Given the description of an element on the screen output the (x, y) to click on. 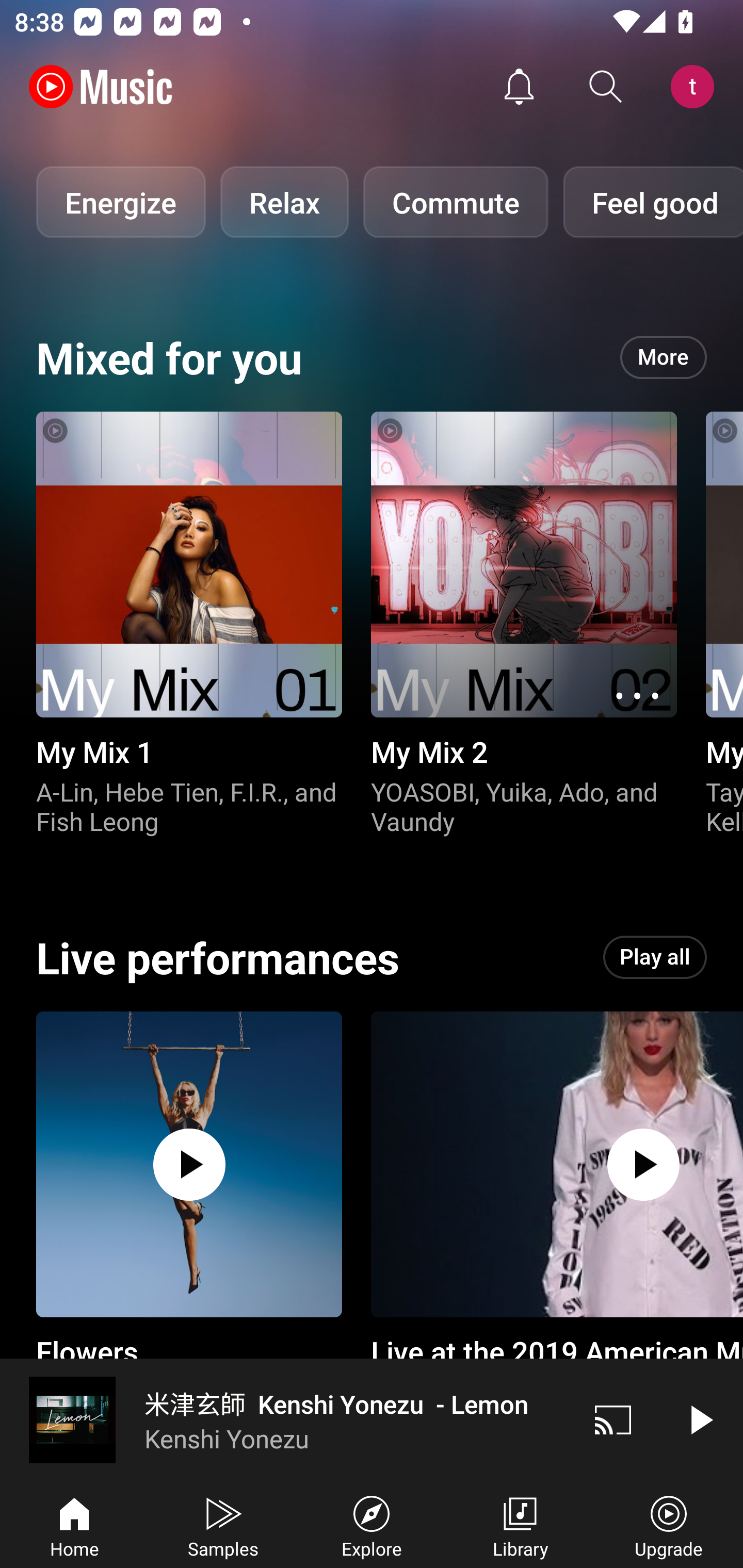
Activity feed (518, 86)
Search (605, 86)
Account (696, 86)
米津玄師  Kenshi Yonezu  - Lemon Kenshi Yonezu (284, 1419)
Cast. Disconnected (612, 1419)
Play video (699, 1419)
Home (74, 1524)
Samples (222, 1524)
Explore (371, 1524)
Library (519, 1524)
Upgrade (668, 1524)
